Given the description of an element on the screen output the (x, y) to click on. 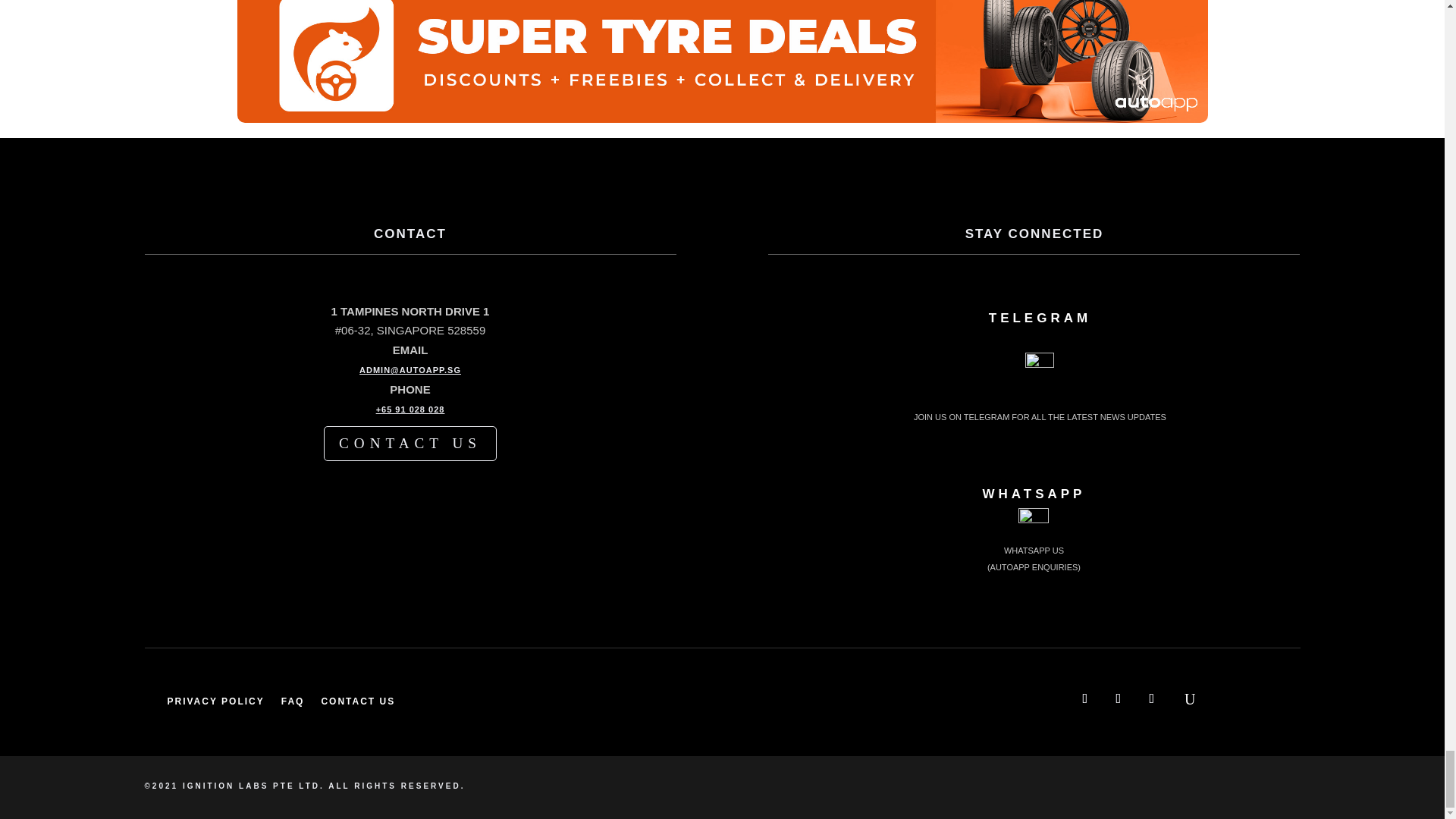
Follow on Youtube (1118, 697)
autoapp super tyre deals longer copy (721, 61)
Follow on Instagram (1152, 697)
Follow on Facebook (1085, 697)
